Given the description of an element on the screen output the (x, y) to click on. 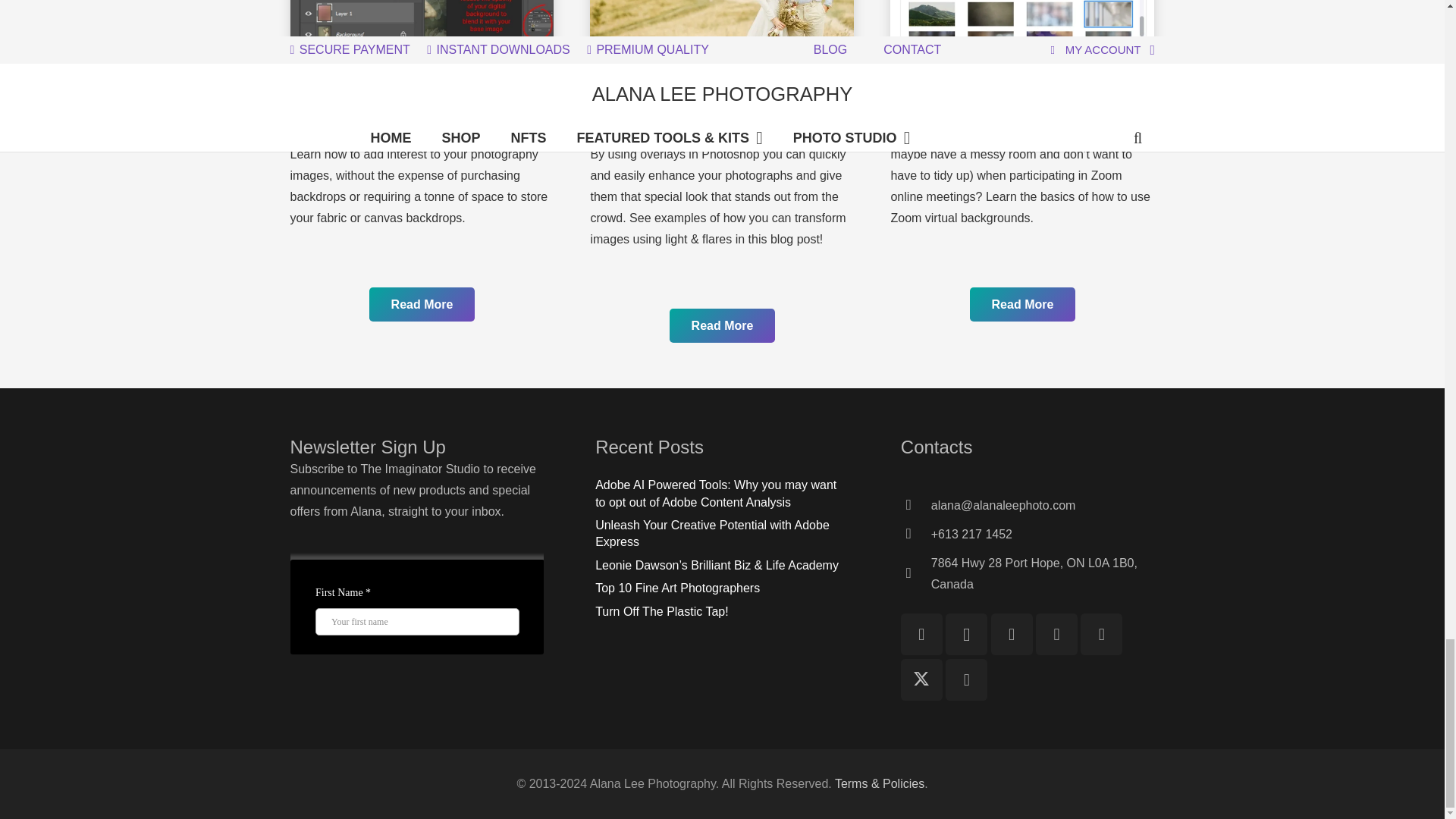
Instagram (965, 634)
YouTube (1056, 634)
Facebook (921, 634)
LinkedIn (965, 680)
TikTok (1011, 634)
Twitter (921, 680)
Pinterest (1101, 634)
